Given the description of an element on the screen output the (x, y) to click on. 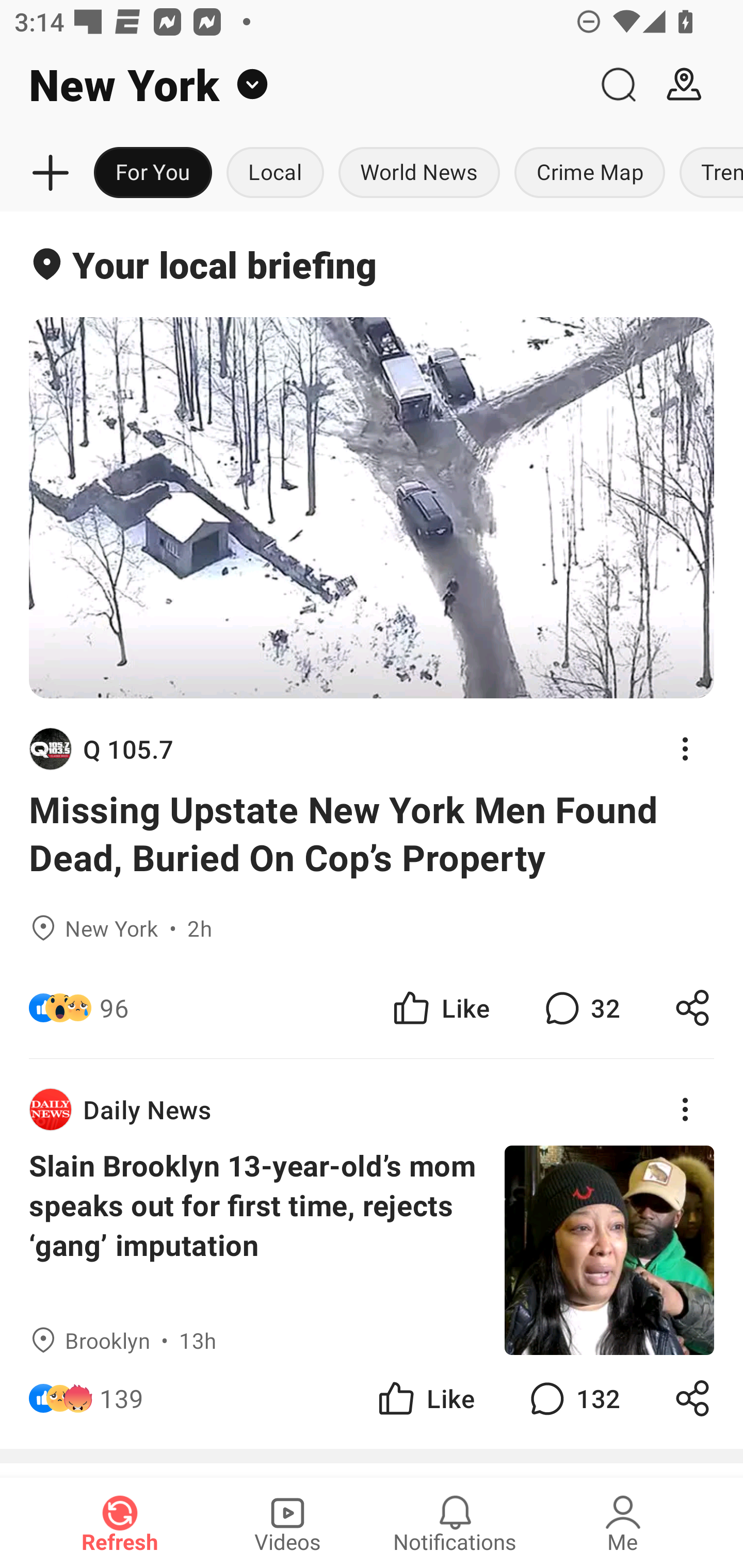
New York (292, 84)
For You (152, 172)
Local (275, 172)
World News (419, 172)
Crime Map (589, 172)
96 (113, 1007)
Like (439, 1007)
32 (579, 1007)
139 (121, 1397)
Like (425, 1397)
132 (572, 1397)
Videos (287, 1522)
Notifications (455, 1522)
Me (622, 1522)
